Given the description of an element on the screen output the (x, y) to click on. 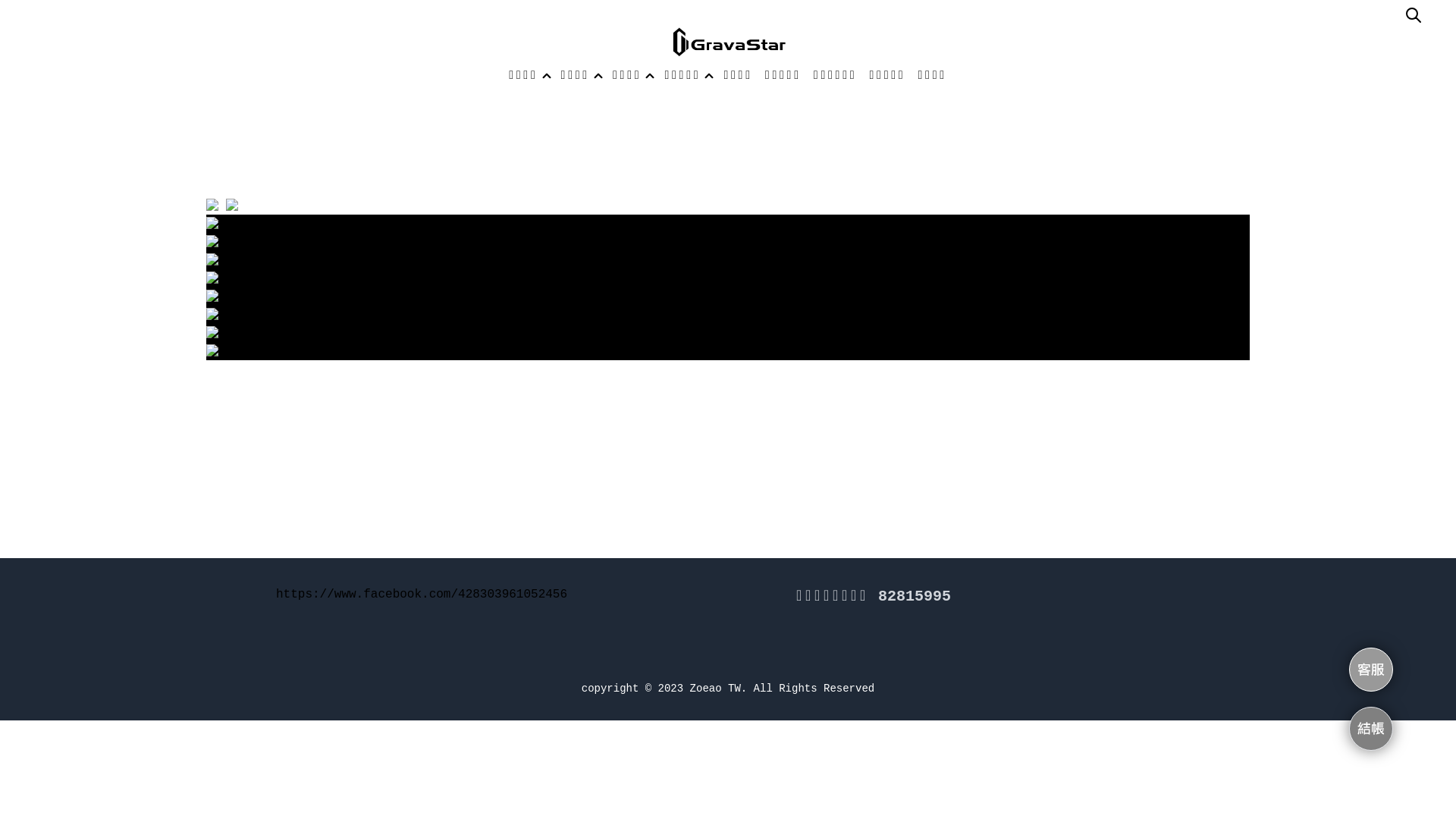
https://www.facebook.com/428303961052456 Element type: text (421, 593)
